Given the description of an element on the screen output the (x, y) to click on. 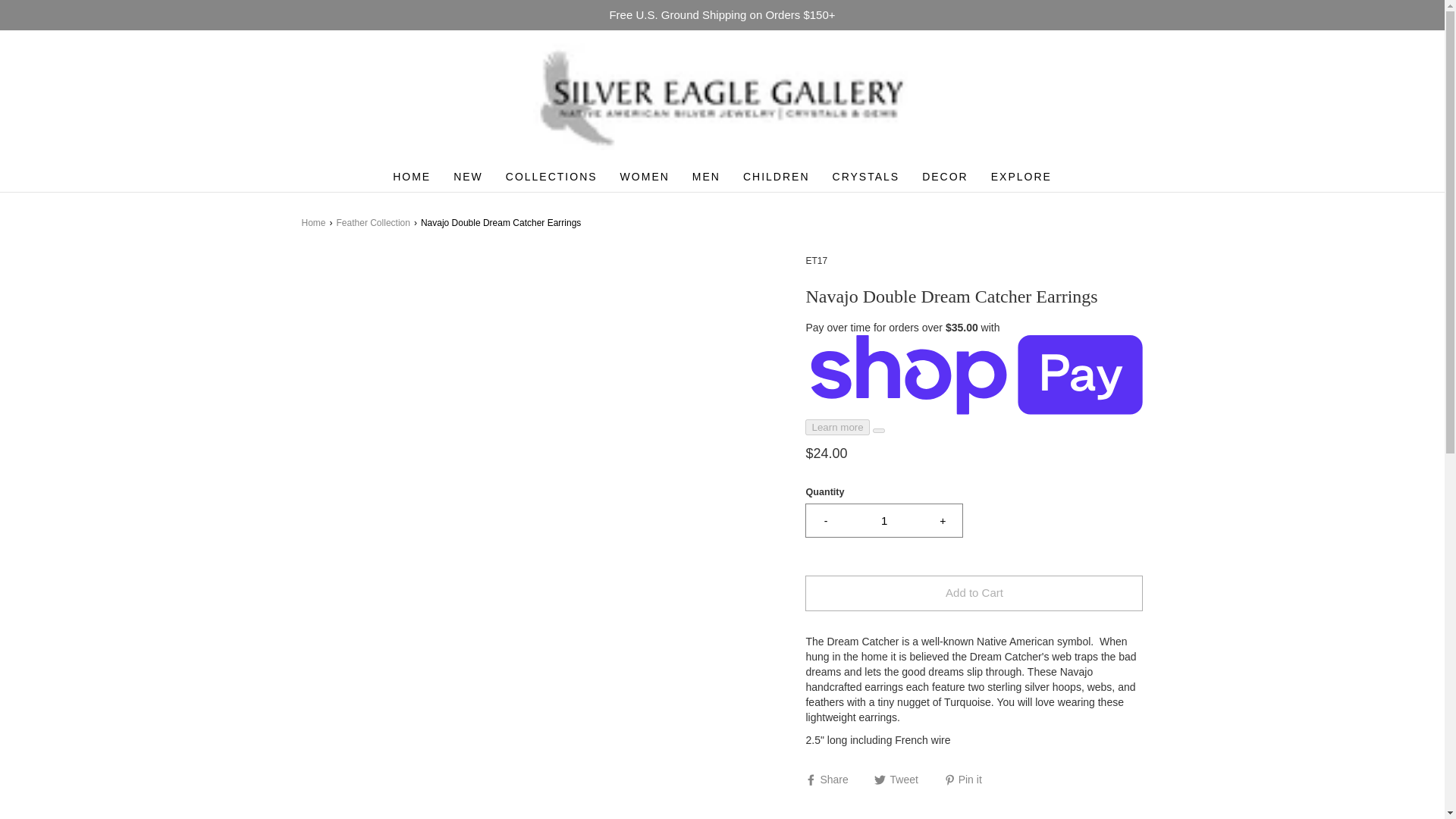
1 (884, 520)
Back to the frontpage (315, 222)
